Given the description of an element on the screen output the (x, y) to click on. 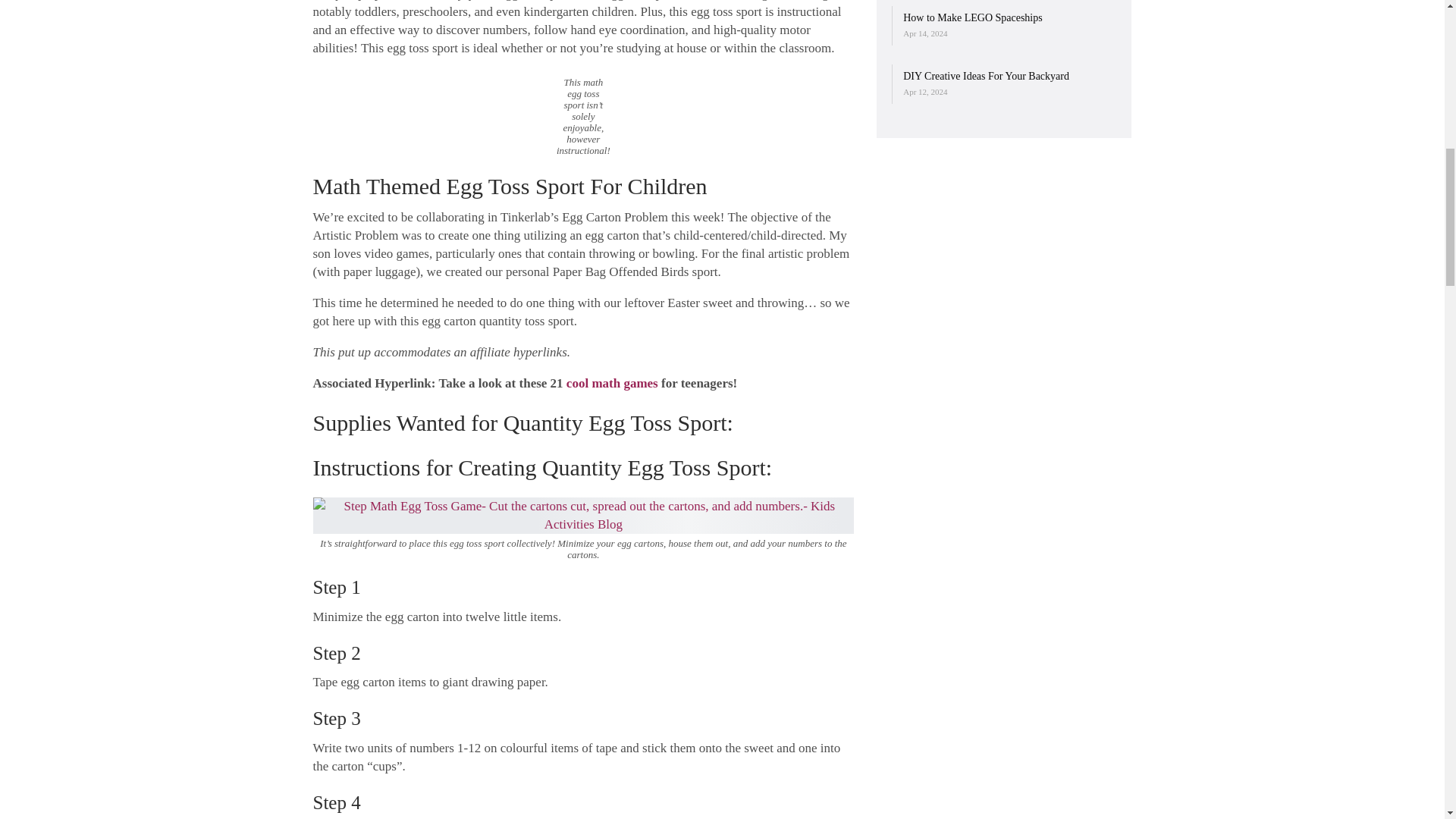
cool math games (612, 382)
number toss game (583, 515)
